Given the description of an element on the screen output the (x, y) to click on. 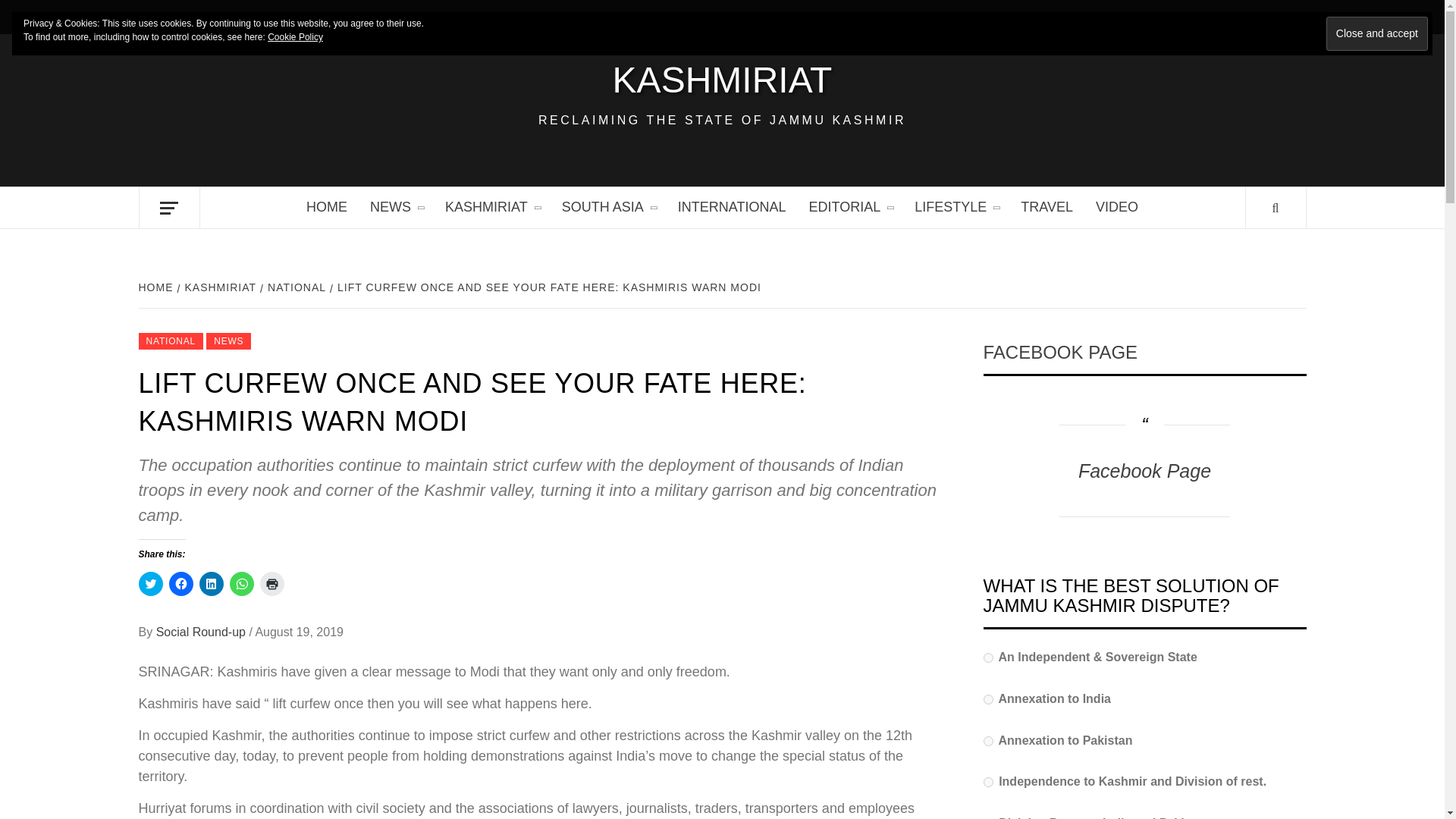
NATIONAL (170, 340)
INTERNATIONAL (731, 207)
Click to print (271, 583)
HOME (157, 287)
SOUTH ASIA (608, 207)
NATIONAL (295, 287)
NEWS (228, 340)
VIDEO (1117, 207)
TRAVEL (1046, 207)
LIFT CURFEW ONCE AND SEE YOUR FATE HERE: KASHMIRIS WARN MODI (547, 287)
KASHMIRIAT (721, 80)
LIFESTYLE (955, 207)
Click to share on Facebook (180, 583)
Click to share on Twitter (149, 583)
Close and accept (1377, 33)
